Given the description of an element on the screen output the (x, y) to click on. 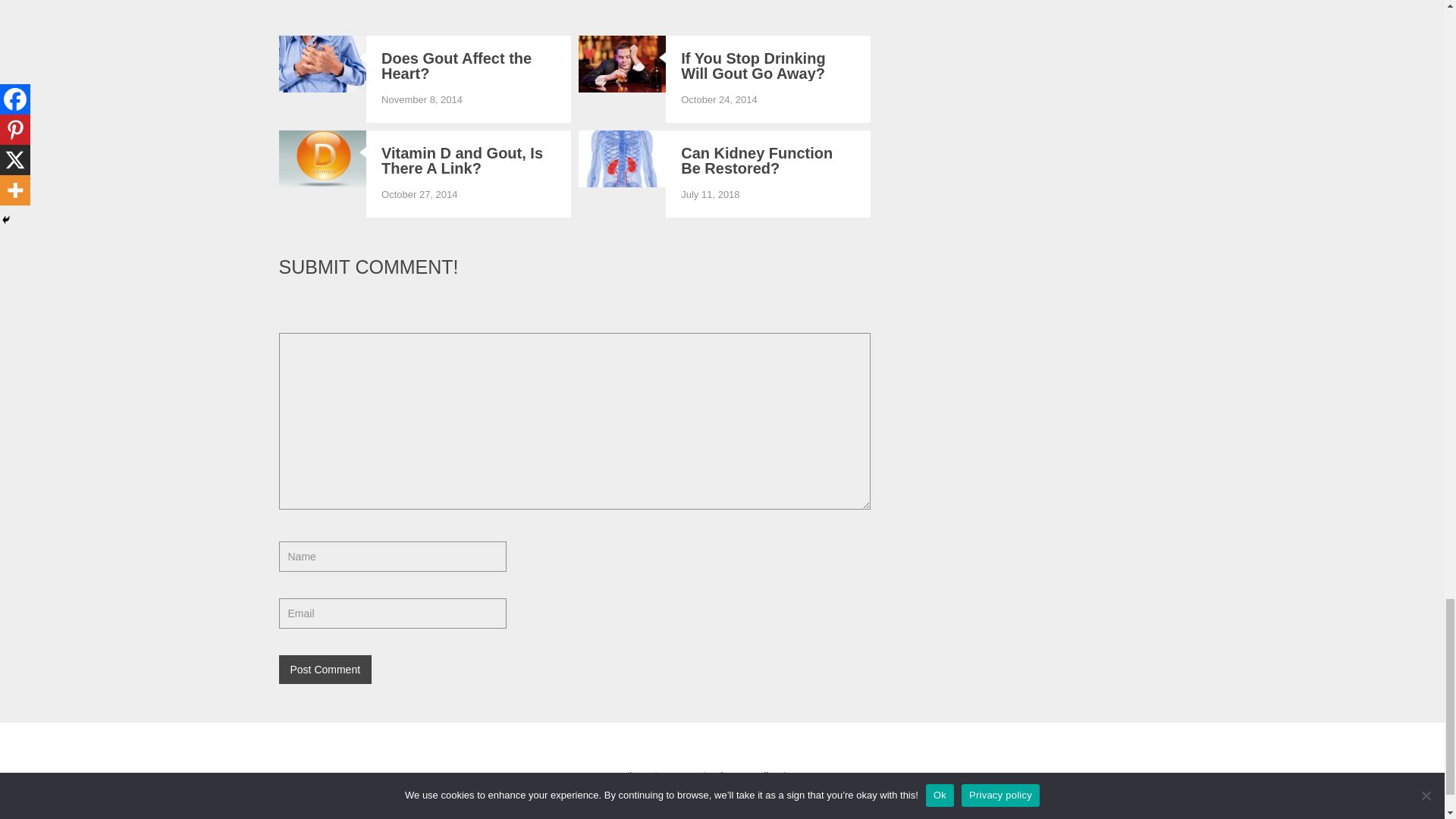
About (635, 775)
Can Kidney Function Be Restored? (768, 160)
Post Comment (325, 669)
If You Stop Drinking Will Gout Go Away? (768, 65)
Post Comment (325, 669)
Vitamin D and Gout, Is There A Link? (468, 160)
Does Gout Affect the Heart? (468, 65)
If You Stop Drinking Will Gout Go Away? (768, 65)
Contact (680, 775)
Does Gout Affect the Heart? (468, 65)
Privacy Policy (743, 775)
DCMA (805, 775)
